Given the description of an element on the screen output the (x, y) to click on. 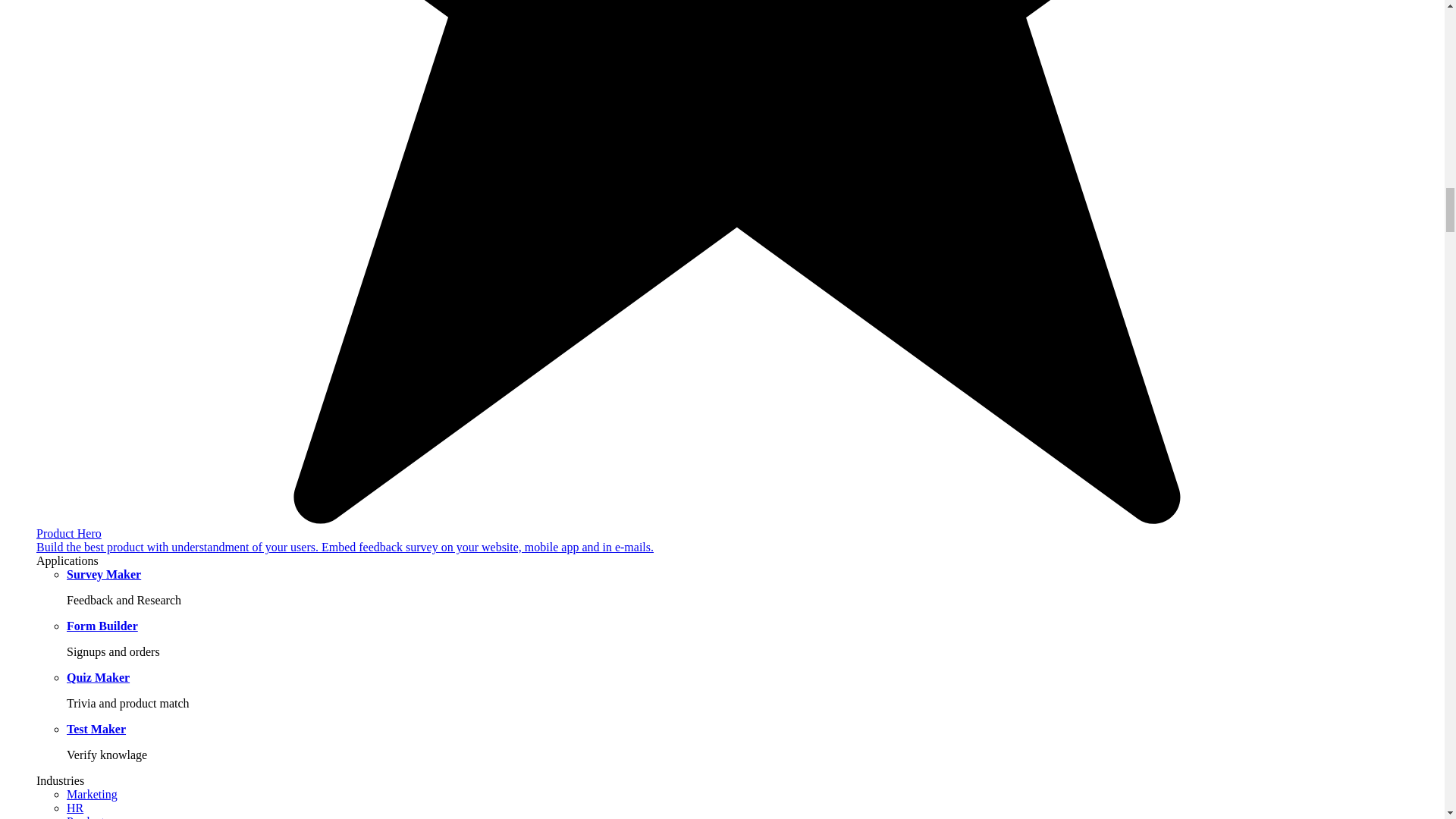
Form Builder (102, 625)
Survey Maker (103, 574)
Test Maker (95, 728)
Quiz Maker (97, 676)
Marketing (91, 793)
Product (85, 816)
HR (74, 807)
